Given the description of an element on the screen output the (x, y) to click on. 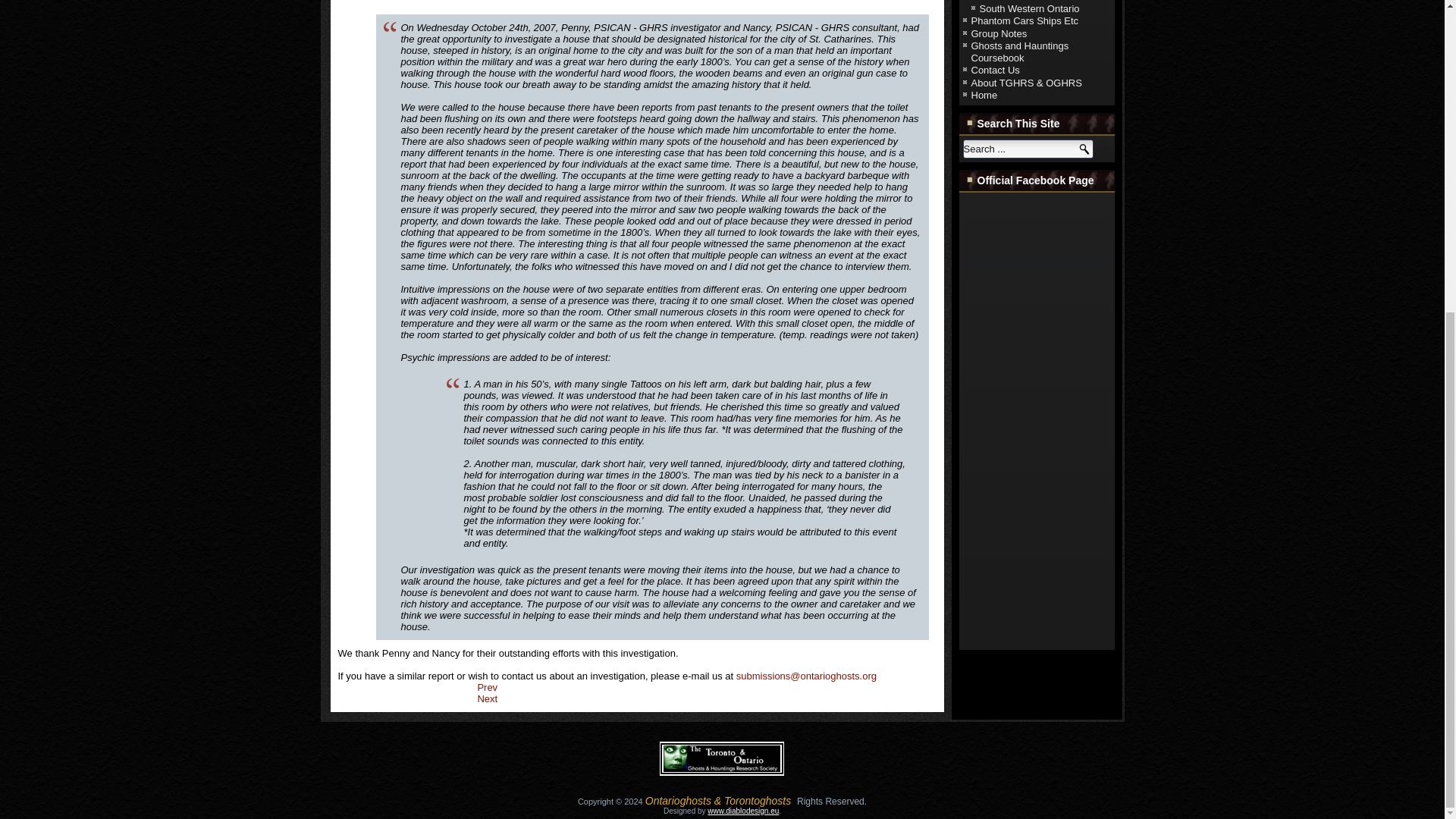
Home (984, 94)
Contact Us (995, 70)
Search ... (1027, 148)
South Eastern Ontario (1028, 1)
Group Notes (998, 32)
Ghosts and Hauntings Coursebook (1019, 51)
Phantom Cars Ships Etc (1024, 20)
www.diablodesign.eu (742, 810)
Next (487, 698)
Prev (487, 686)
South Western Ontario (1029, 8)
